Given the description of an element on the screen output the (x, y) to click on. 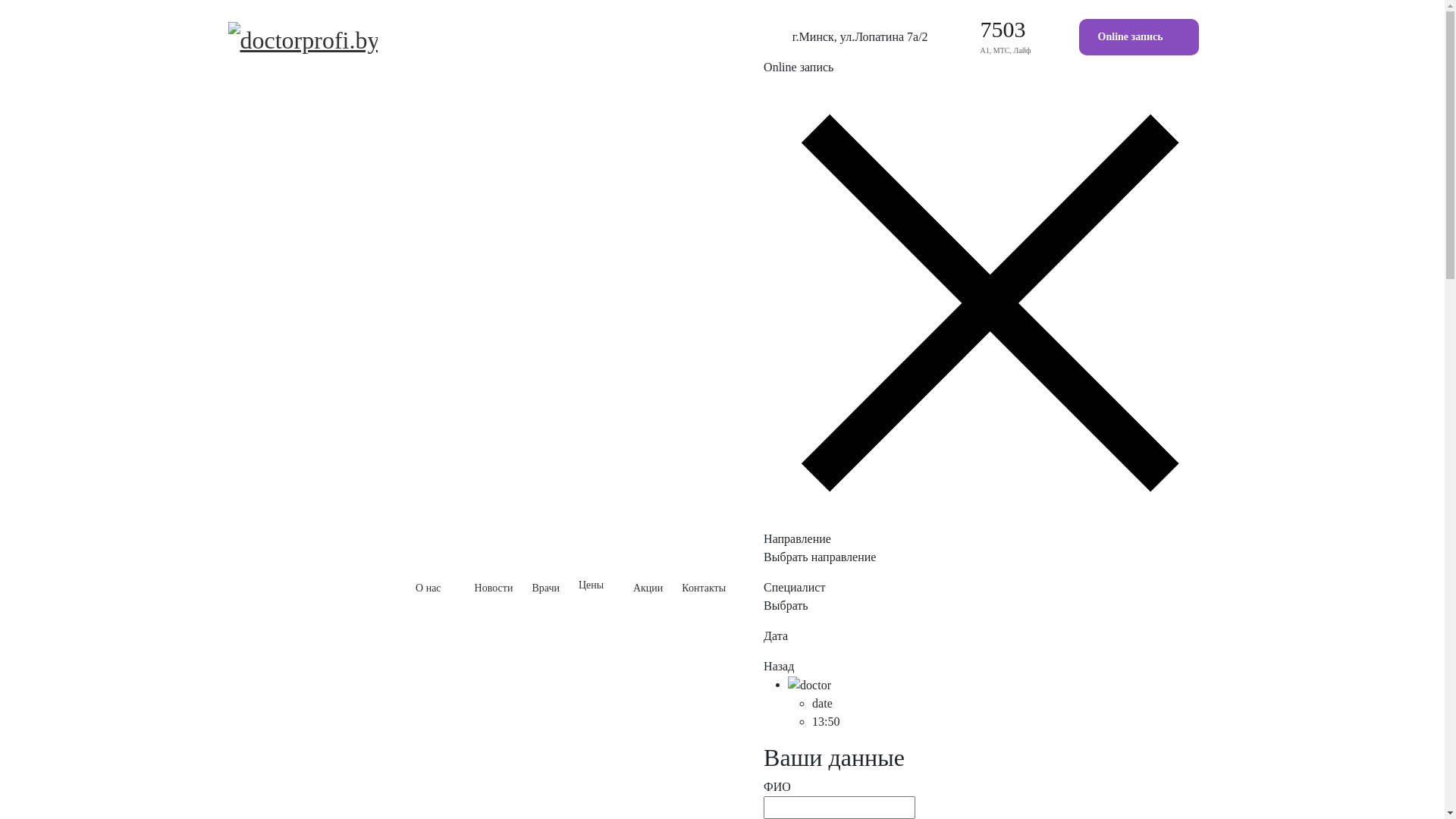
7503 Element type: text (1003, 29)
